Given the description of an element on the screen output the (x, y) to click on. 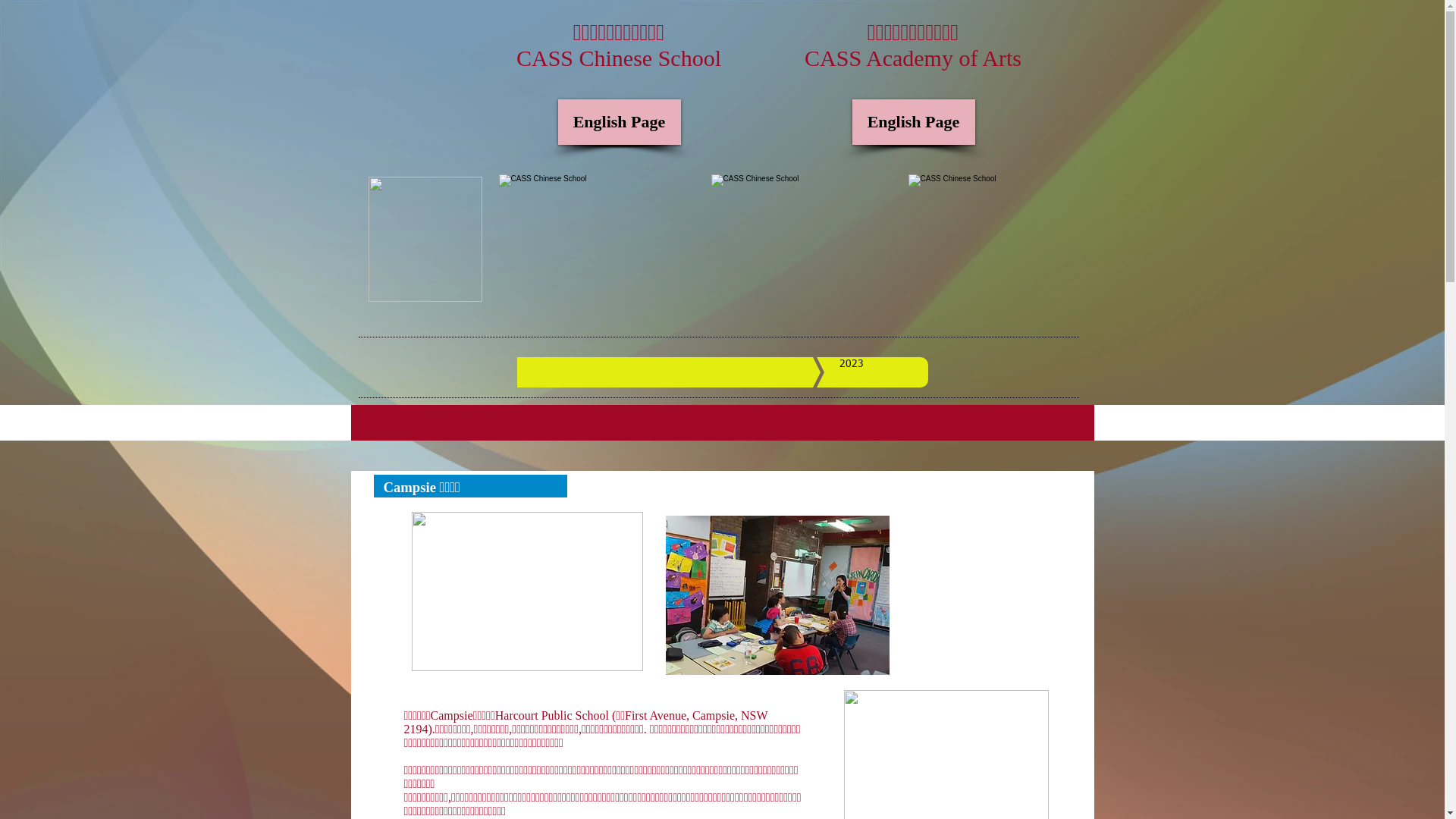
collaged+p1.jpg Element type: hover (809, 238)
cass+logo+chinese+small.png Element type: hover (425, 238)
English Page Element type: text (913, 121)
English Page Element type: text (619, 121)
